Given the description of an element on the screen output the (x, y) to click on. 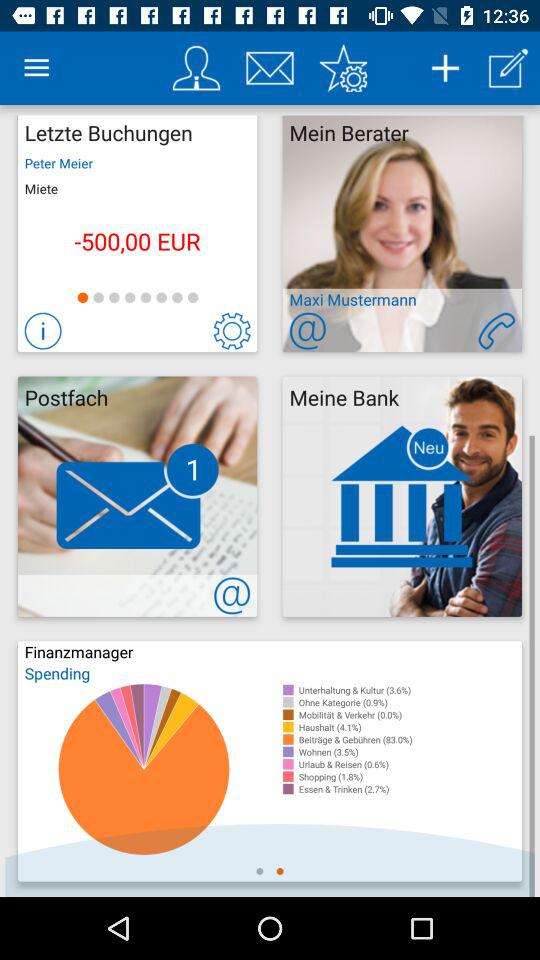
contact option (496, 330)
